Given the description of an element on the screen output the (x, y) to click on. 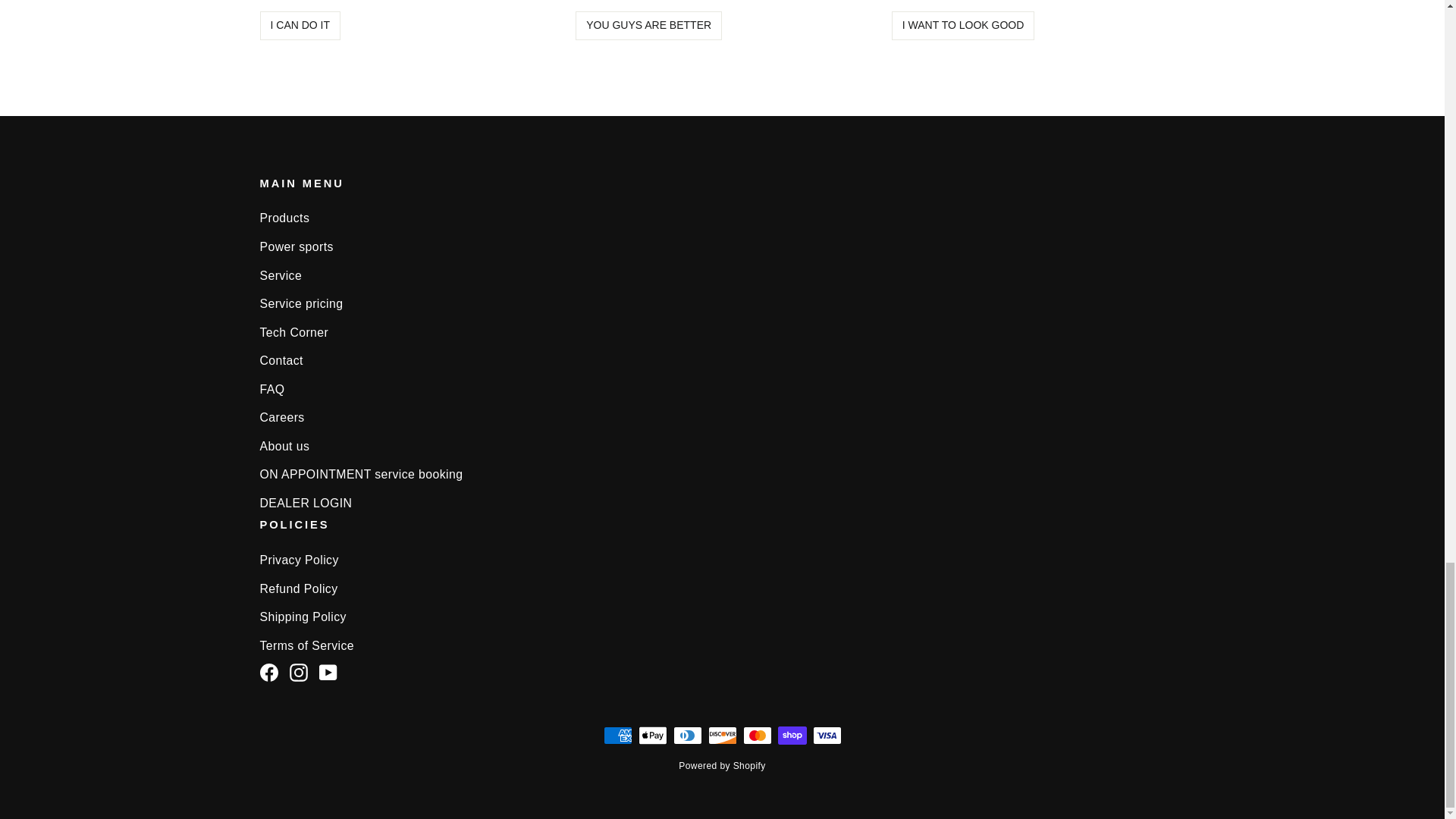
Diners Club (686, 735)
Mastercard (756, 735)
S4 Suspension on YouTube (327, 670)
Discover (721, 735)
S4 Suspension on Instagram (298, 670)
Apple Pay (652, 735)
American Express (617, 735)
Shop Pay (791, 735)
